Given the description of an element on the screen output the (x, y) to click on. 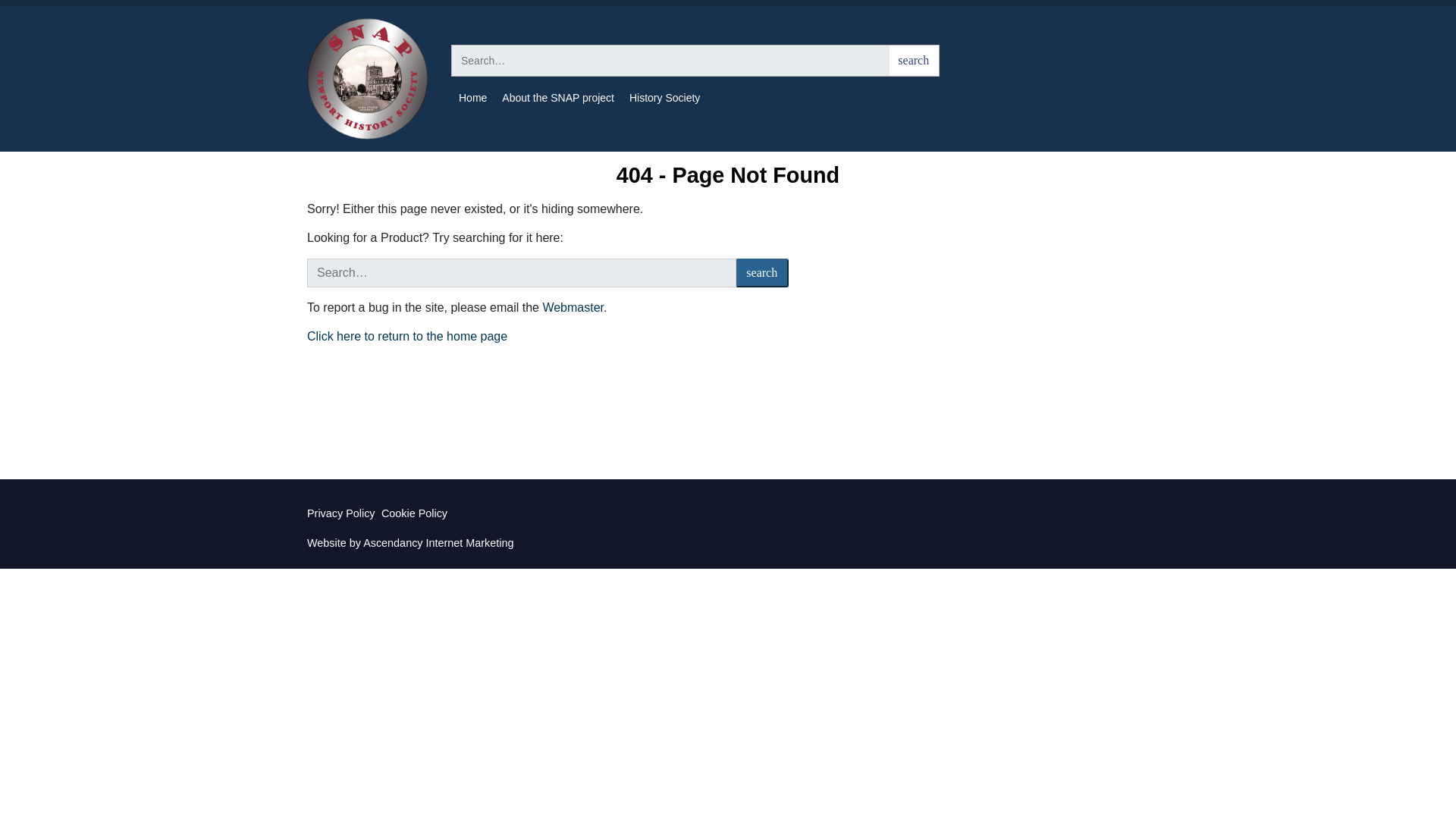
About the SNAP project (558, 97)
Search (913, 60)
History Society (664, 97)
Cookie Policy (413, 512)
Search (762, 272)
Snap Project (367, 78)
Ascendancy Internet Marketing (437, 542)
Ascendancy Internet Marketing (437, 542)
Home (406, 336)
Click here to return to the home page (406, 336)
Privacy Policy (341, 512)
Webmaster (572, 307)
Email us (572, 307)
Home (473, 97)
